Given the description of an element on the screen output the (x, y) to click on. 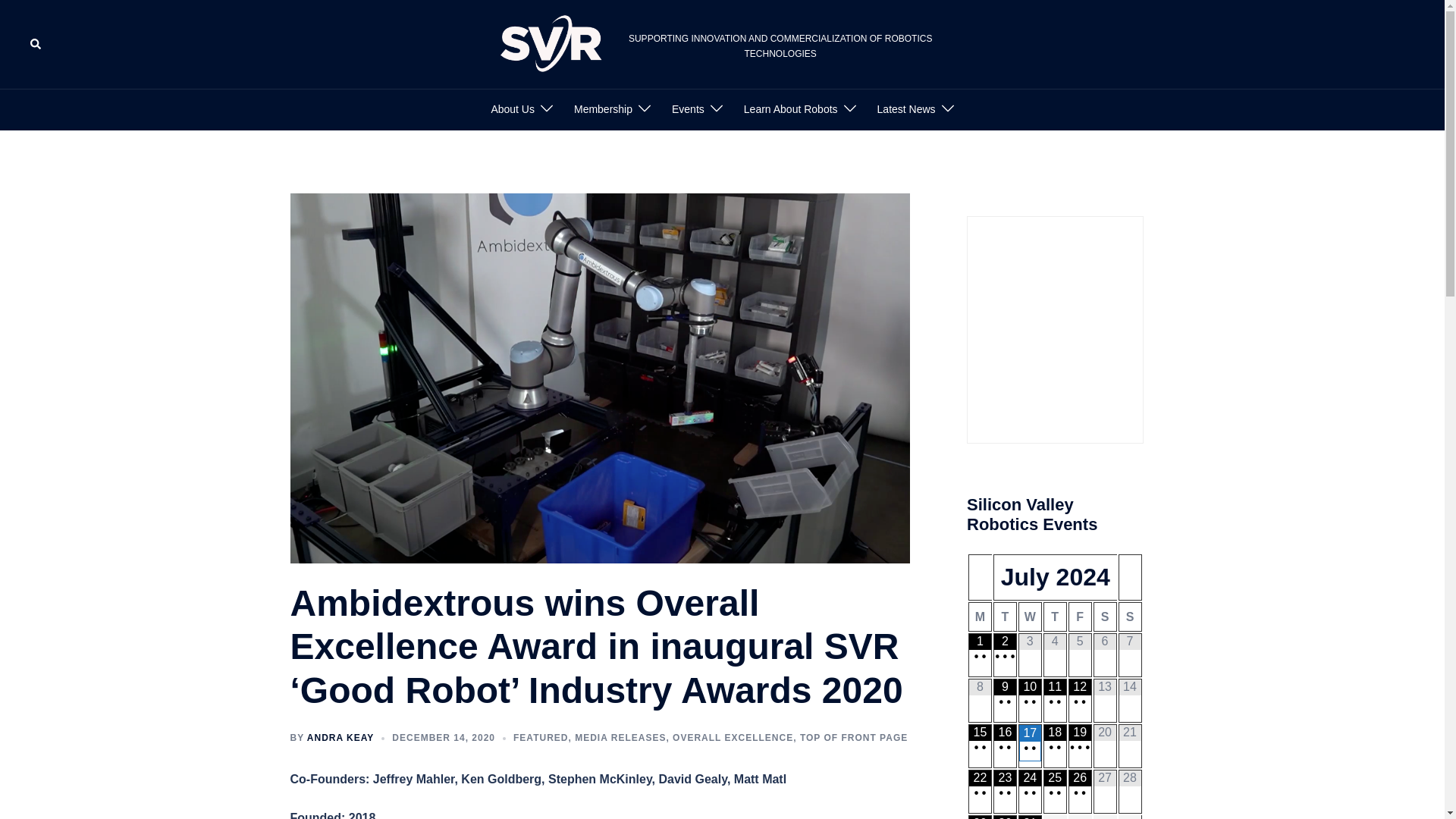
Learn About Robots (791, 109)
Latest News (906, 109)
Next Month (1130, 578)
Events (687, 109)
Search (36, 43)
Membership (602, 109)
Previous Month (980, 578)
About Us (512, 109)
